Given the description of an element on the screen output the (x, y) to click on. 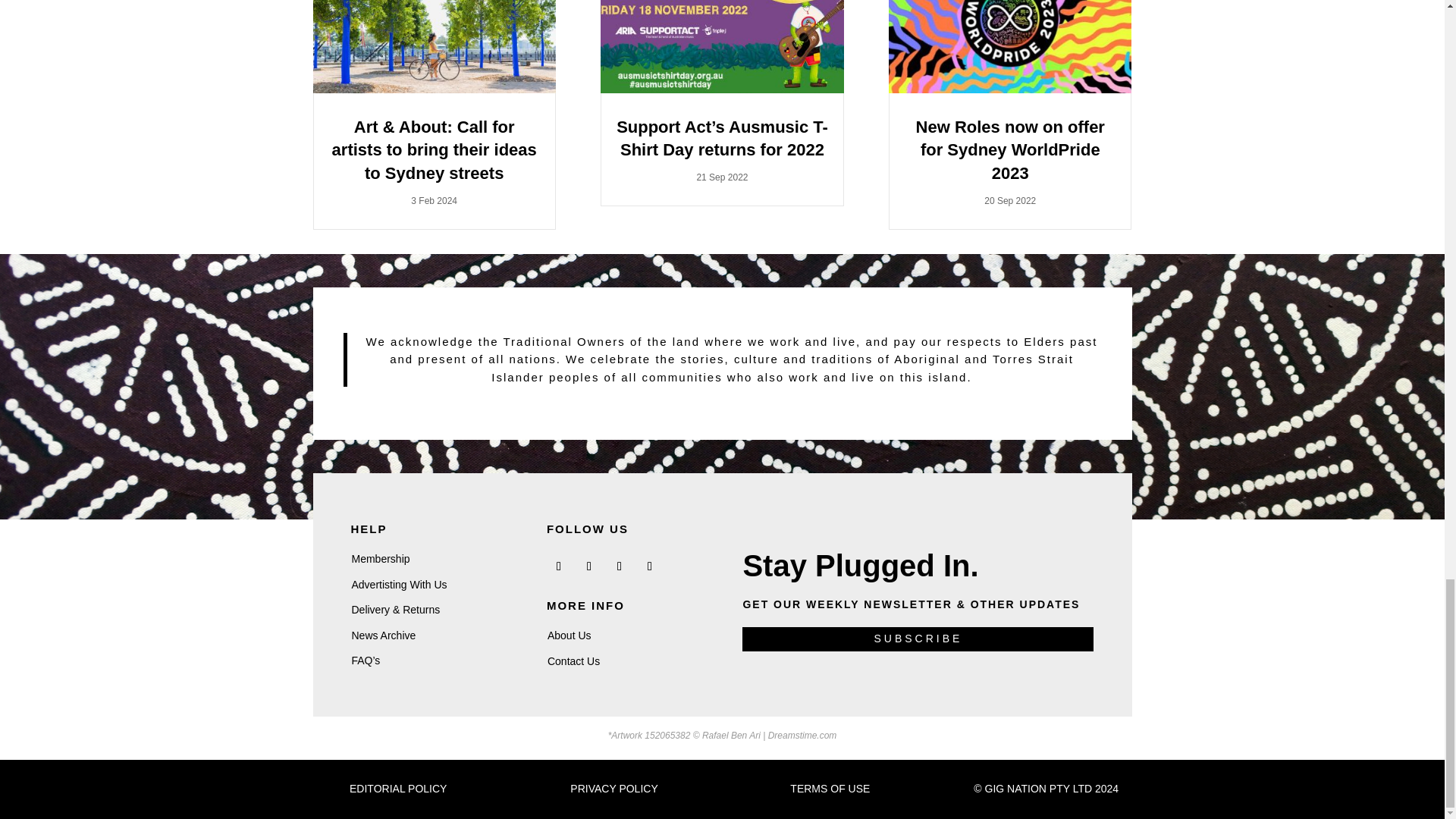
News Archive (384, 635)
Follow on LinkedIn (649, 566)
Membership (381, 558)
Follow on X (588, 566)
Follow on Facebook (558, 566)
Follow on Instagram (619, 566)
New Roles now on offer for Sydney WorldPride 2023 (1010, 150)
Advertisting With Us (399, 584)
